Given the description of an element on the screen output the (x, y) to click on. 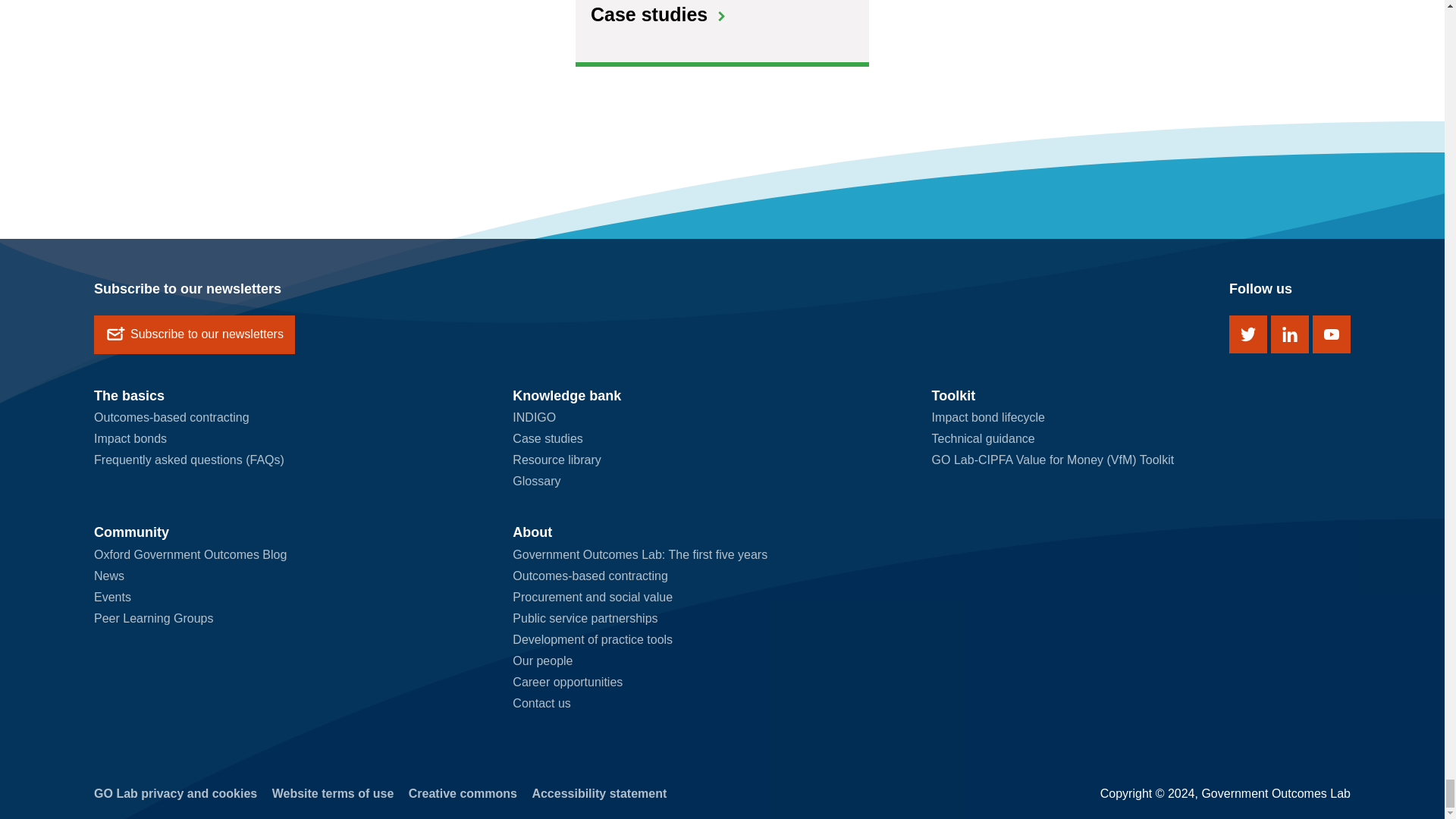
Follow us on Twitter (1247, 333)
Follow us on LinkedIn (1289, 333)
Follow us on YouTube (1332, 333)
